Given the description of an element on the screen output the (x, y) to click on. 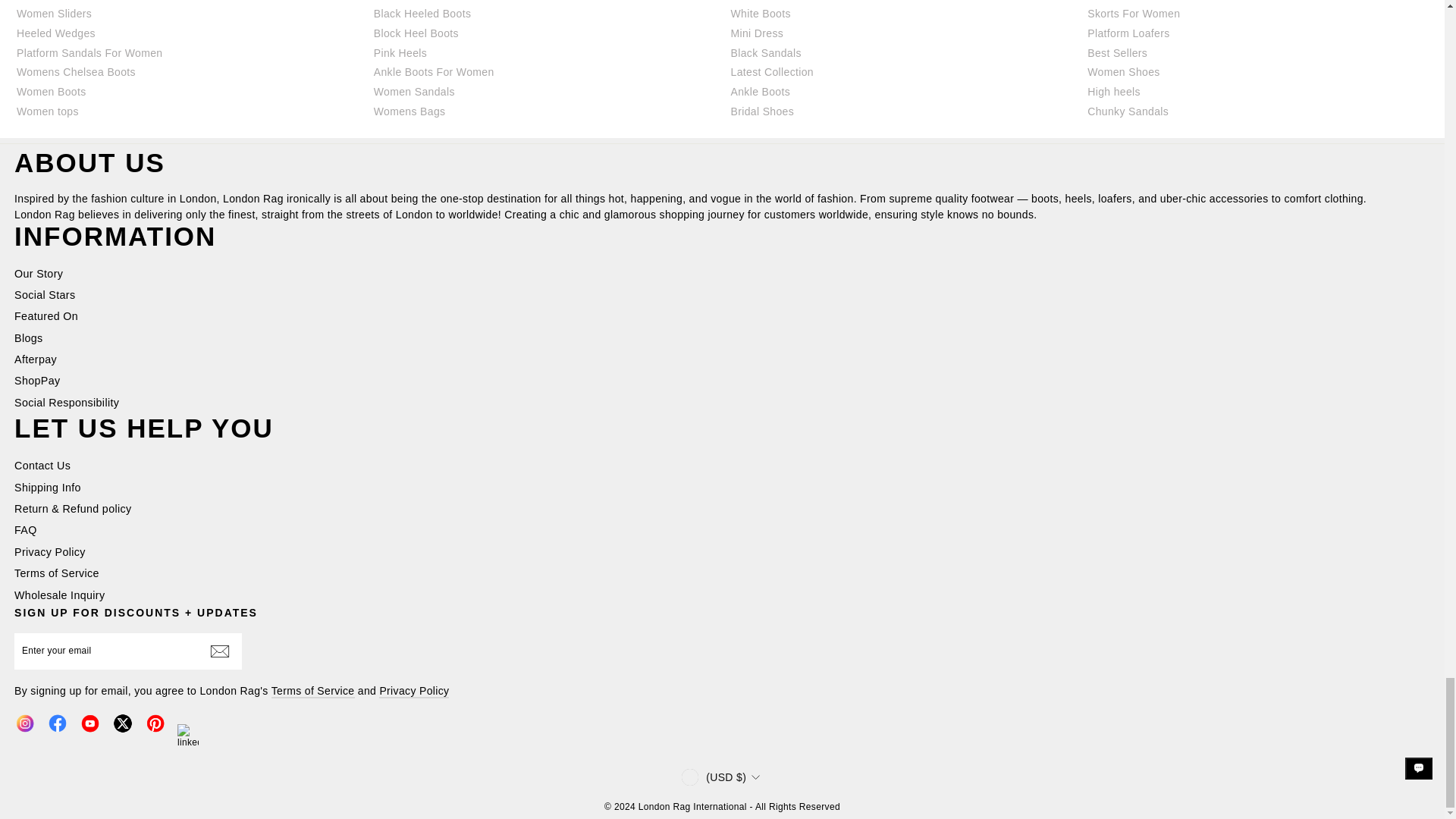
Privacy Policy (413, 691)
London Rag International on Facebook (57, 722)
icon-email (219, 651)
London Rag International on Instagram (24, 722)
Terms of Service (312, 691)
London Rag International on Twitter (122, 722)
London Rag International on Pinterest (154, 722)
London Rag International on YouTube (90, 722)
